Given the description of an element on the screen output the (x, y) to click on. 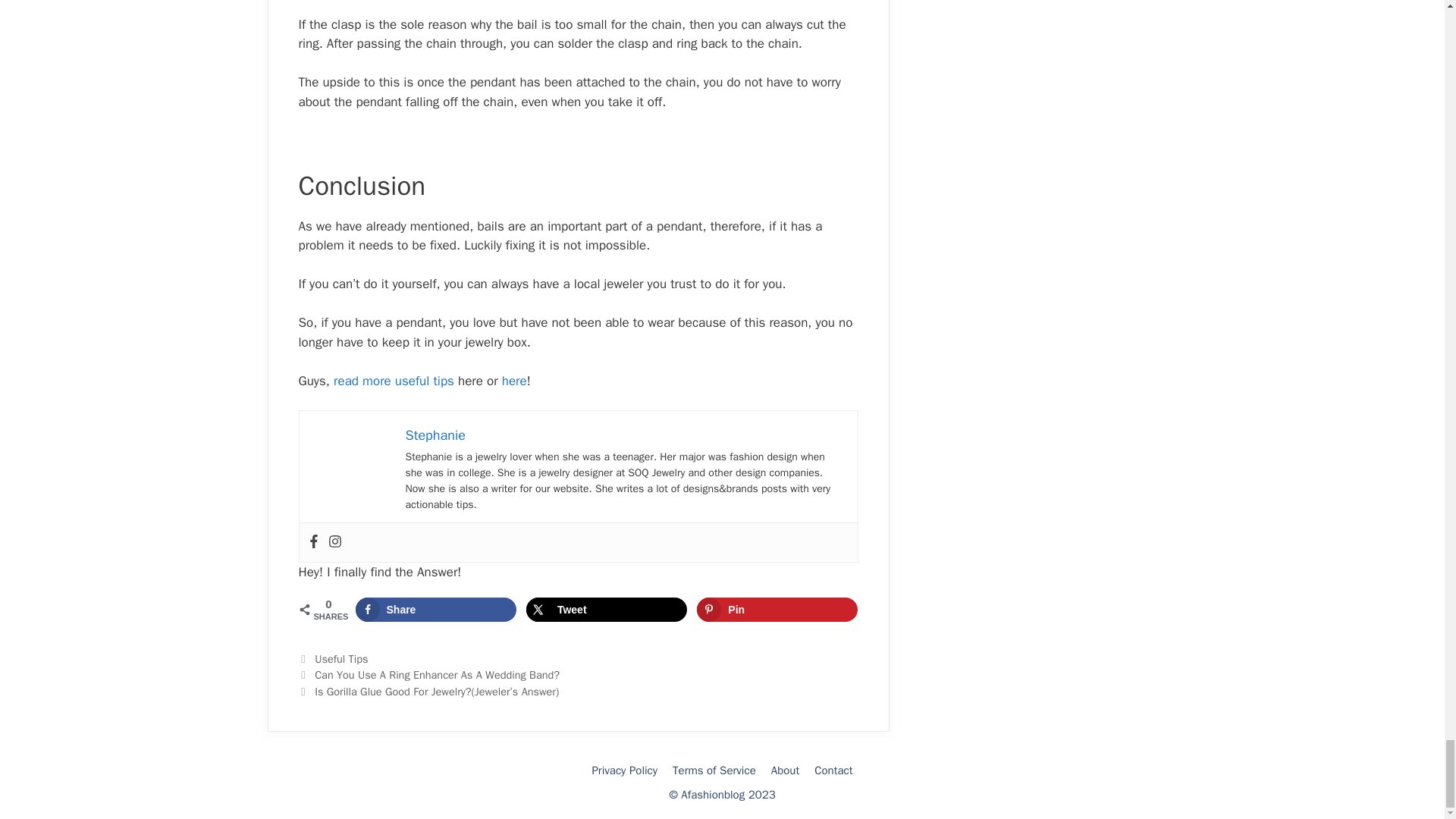
Save to Pinterest (777, 609)
Share on X (606, 609)
Share on Facebook (435, 609)
